Given the description of an element on the screen output the (x, y) to click on. 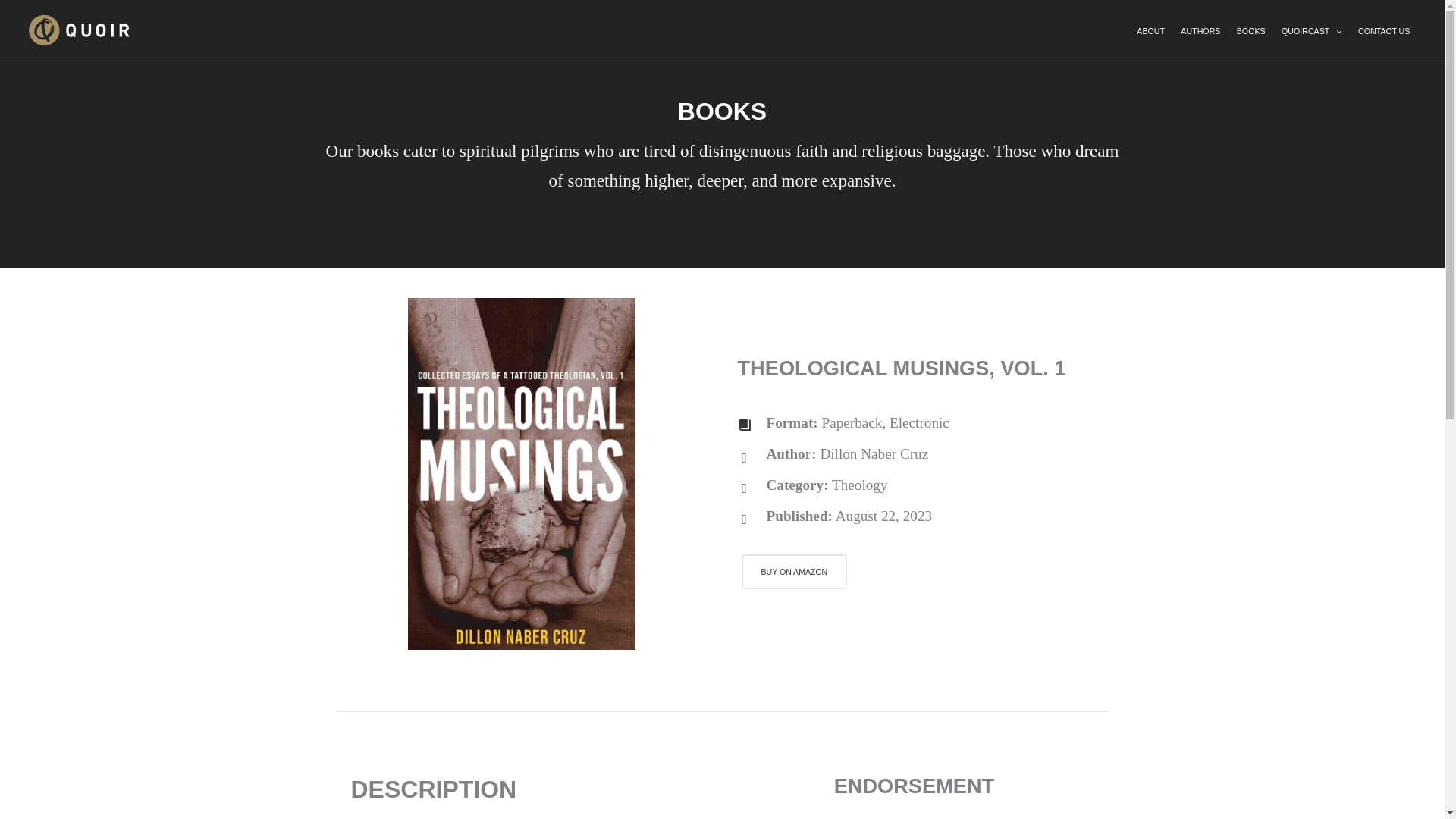
AUTHORS (1200, 31)
BOOKS (1250, 31)
ABOUT (1151, 31)
QUOIRCAST (1310, 31)
CONTACT US (1383, 31)
